Given the description of an element on the screen output the (x, y) to click on. 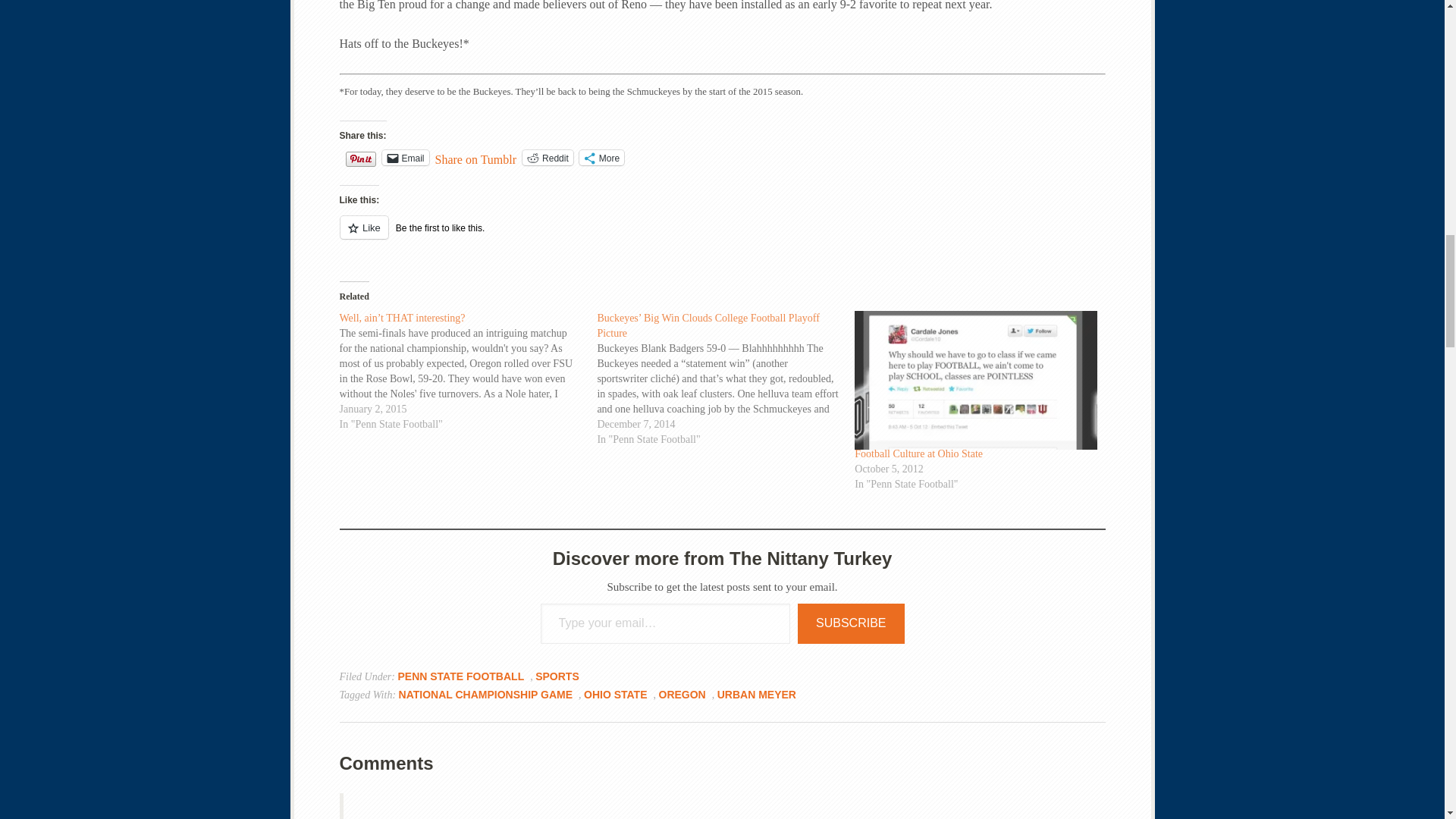
Email (405, 157)
Click to share on Reddit (547, 157)
SPORTS (557, 676)
More (601, 157)
Football Culture at Ohio State (918, 453)
PENN STATE FOOTBALL (460, 676)
Like or Reblog (722, 236)
SUBSCRIBE (850, 623)
NATIONAL CHAMPIONSHIP GAME (485, 694)
Click to email a link to a friend (405, 157)
OHIO STATE (614, 694)
URBAN MEYER (756, 694)
OREGON (681, 694)
Share on Tumblr (475, 156)
Football Culture at Ohio State (975, 380)
